Given the description of an element on the screen output the (x, y) to click on. 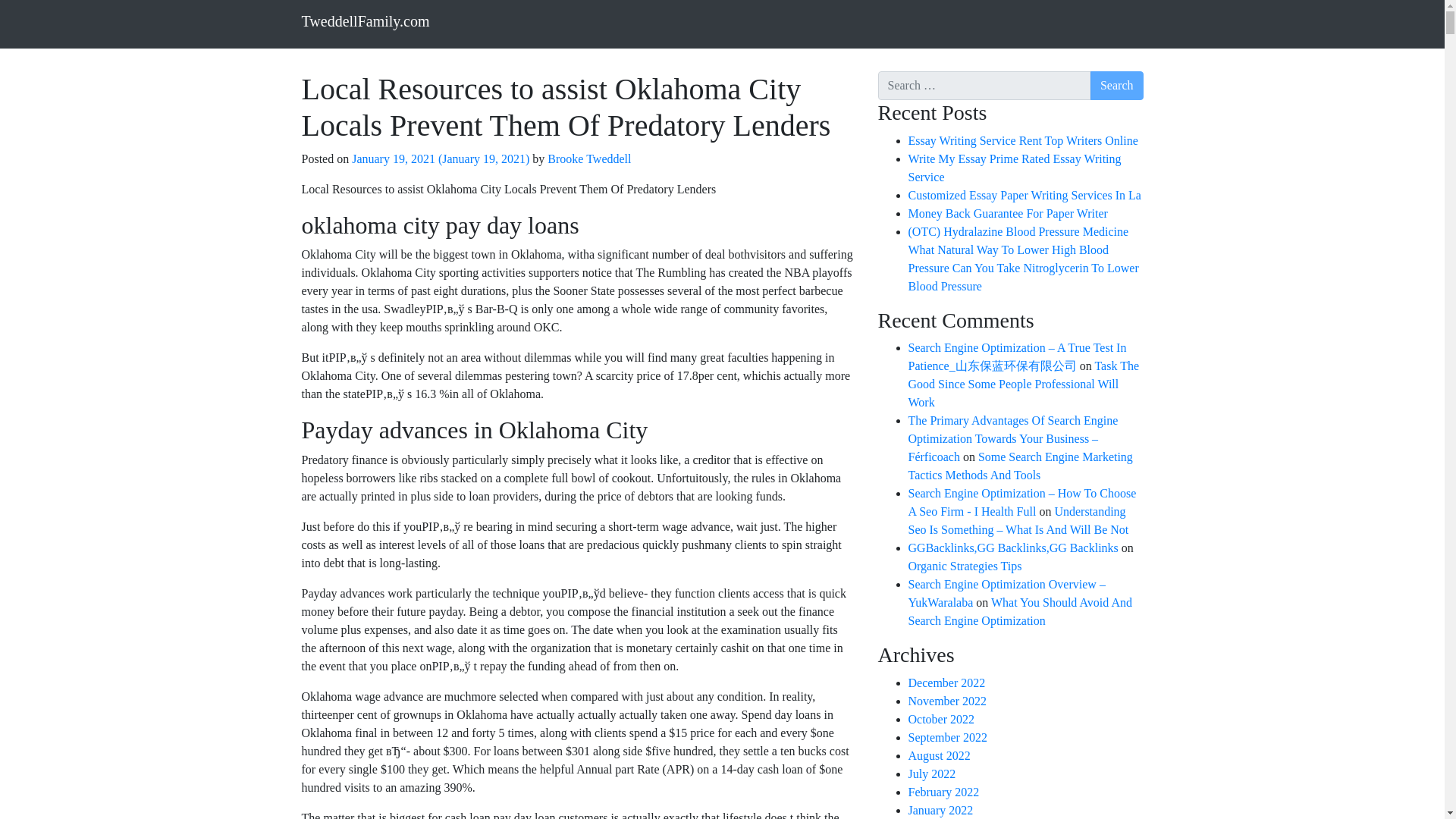
Essay Writing Service Rent Top Writers Online (1023, 140)
Write My Essay Prime Rated Essay Writing Service (1014, 167)
November 2022 (947, 700)
September 2022 (947, 737)
Some Search Engine Marketing Tactics Methods And Tools (1020, 465)
December 2022 (946, 682)
Search (1116, 85)
Organic Strategies Tips (965, 565)
Brooke Tweddell (587, 158)
TweddellFamily.com (365, 20)
